Given the description of an element on the screen output the (x, y) to click on. 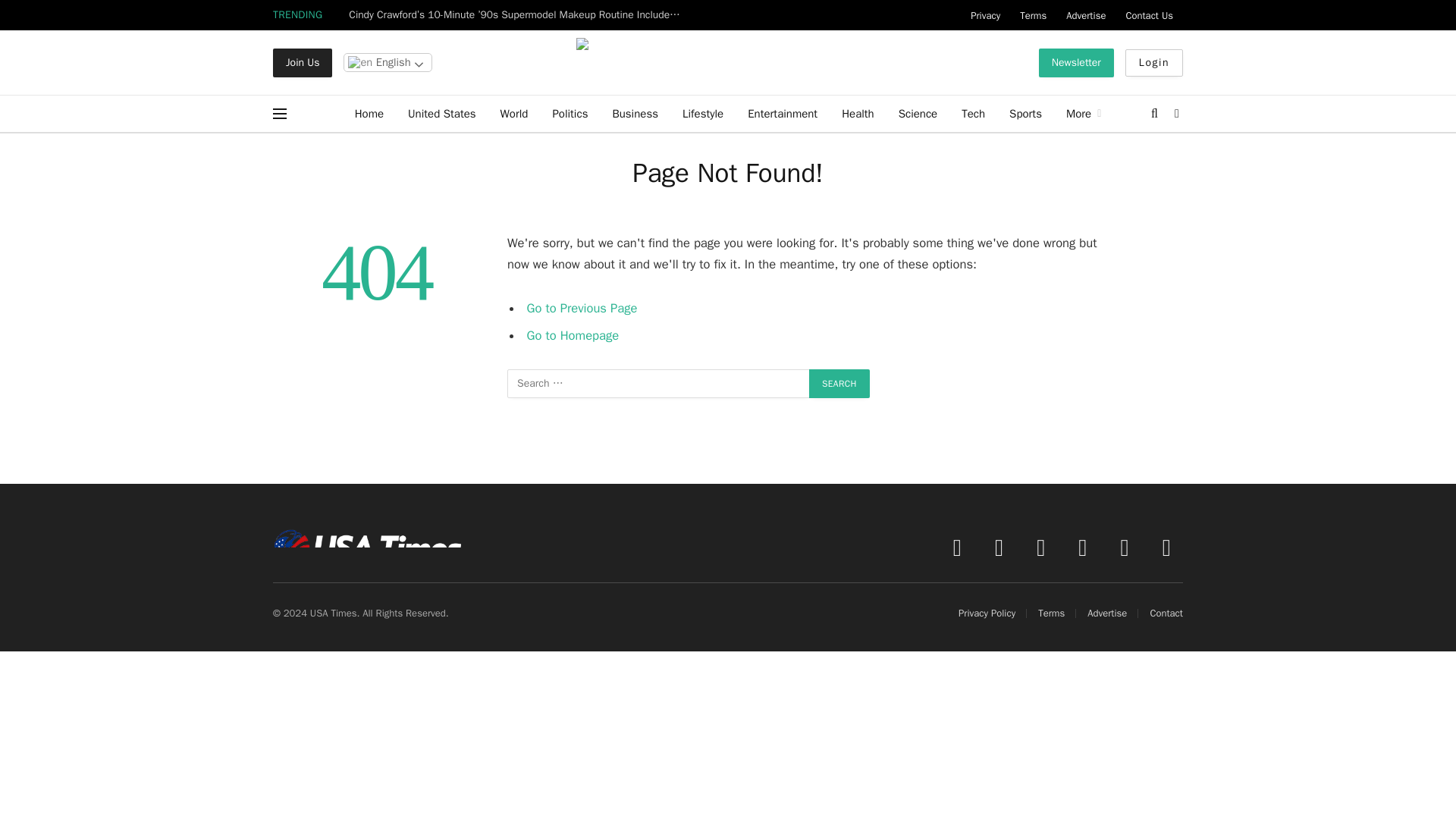
Contact Us (1148, 15)
Advertise (1086, 15)
Search (839, 383)
Search (839, 383)
Join Us (302, 62)
Privacy (985, 15)
Terms (1033, 15)
